Given the description of an element on the screen output the (x, y) to click on. 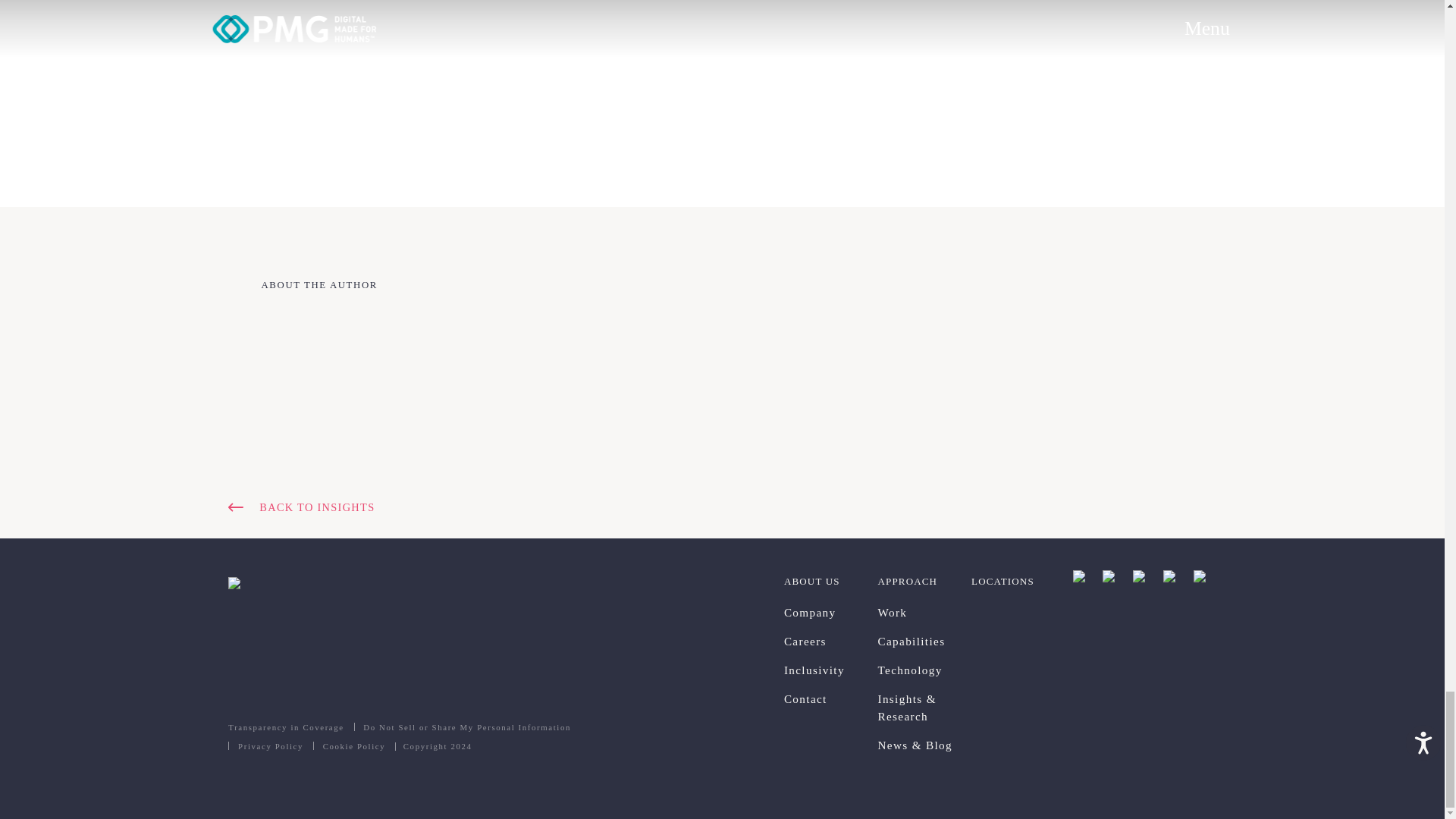
Read our cookie policy (353, 746)
Work (924, 613)
Inclusivity (830, 670)
Transparency in Coverage (290, 727)
BACK TO INSIGHTS (721, 507)
ABOUT US (830, 580)
Capabilities (924, 642)
BACK TO INSIGHTS (721, 507)
Transparency in Coverage (290, 727)
Read our privacy terms (270, 746)
